Given the description of an element on the screen output the (x, y) to click on. 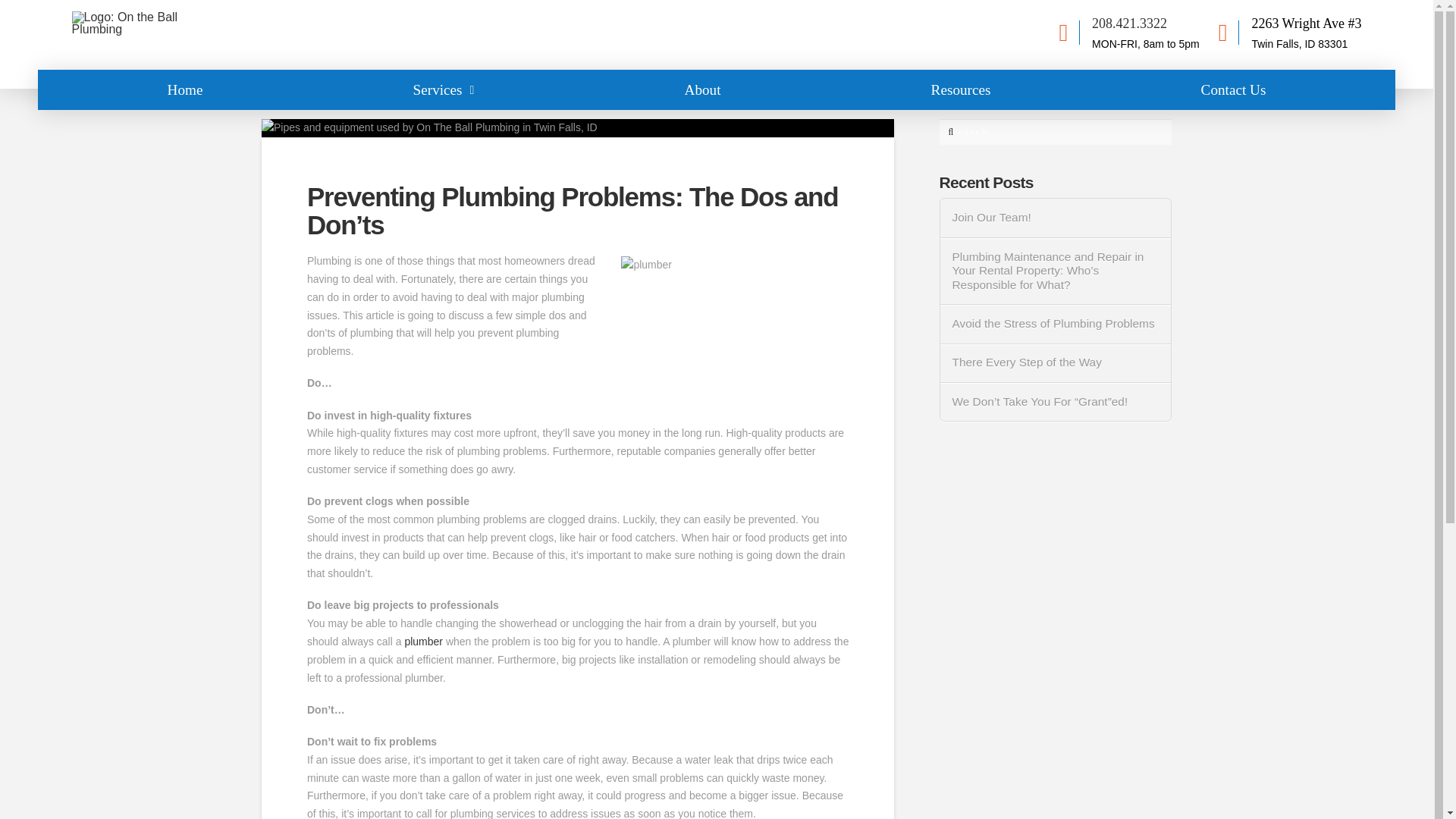
Home (184, 89)
Avoid the Stress of Plumbing Problems (1055, 323)
Join Our Team! (1055, 217)
Resources (961, 89)
208.421.3322 (1129, 23)
About (702, 89)
Contact Us (1233, 89)
There Every Step of the Way (1055, 362)
plumber (423, 641)
Services (443, 89)
